Given the description of an element on the screen output the (x, y) to click on. 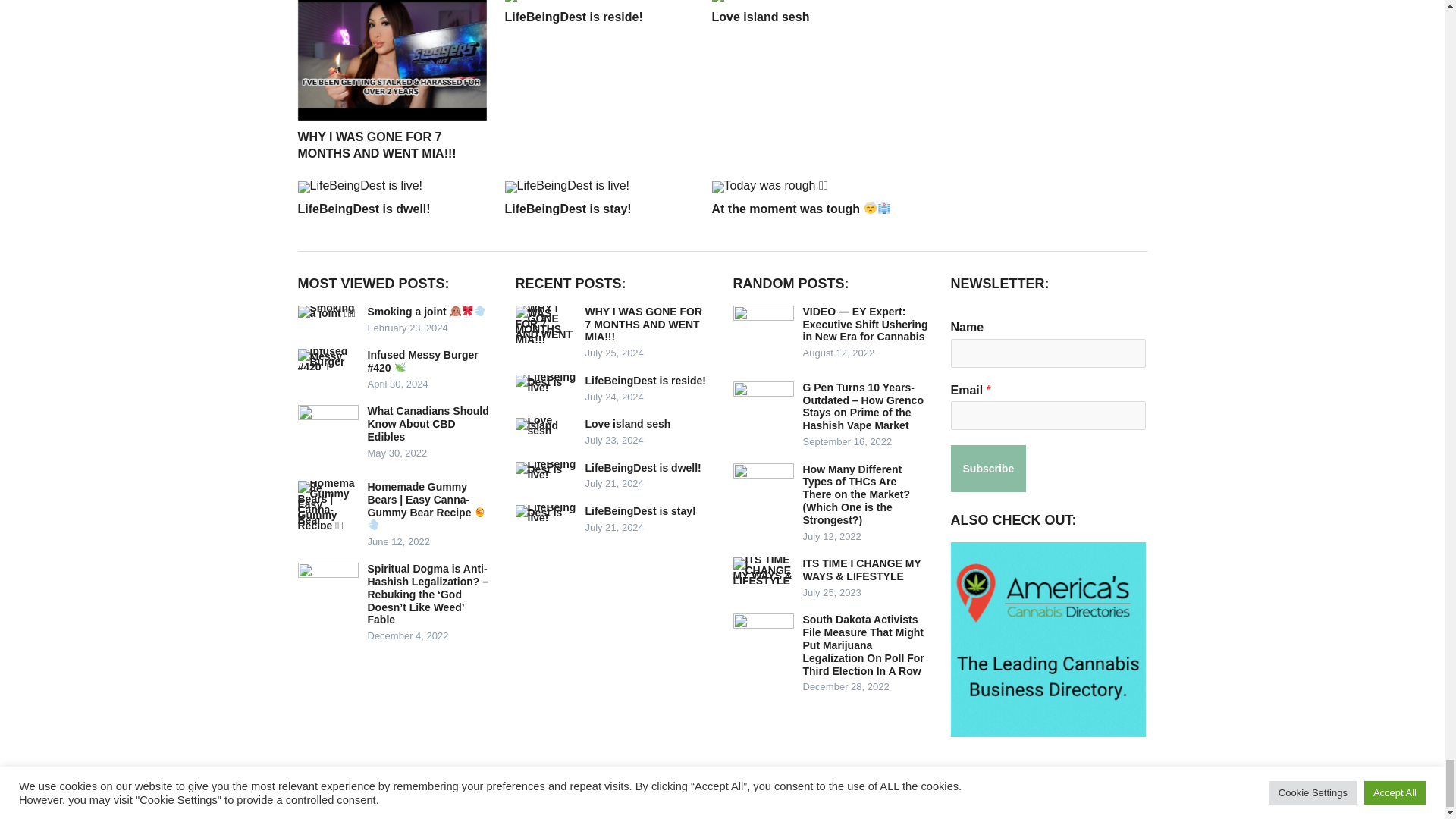
LifeBeingDest is reside! (574, 16)
WHY I WAS GONE FOR 7 MONTHS AND WENT MIA!!! (376, 144)
